Given the description of an element on the screen output the (x, y) to click on. 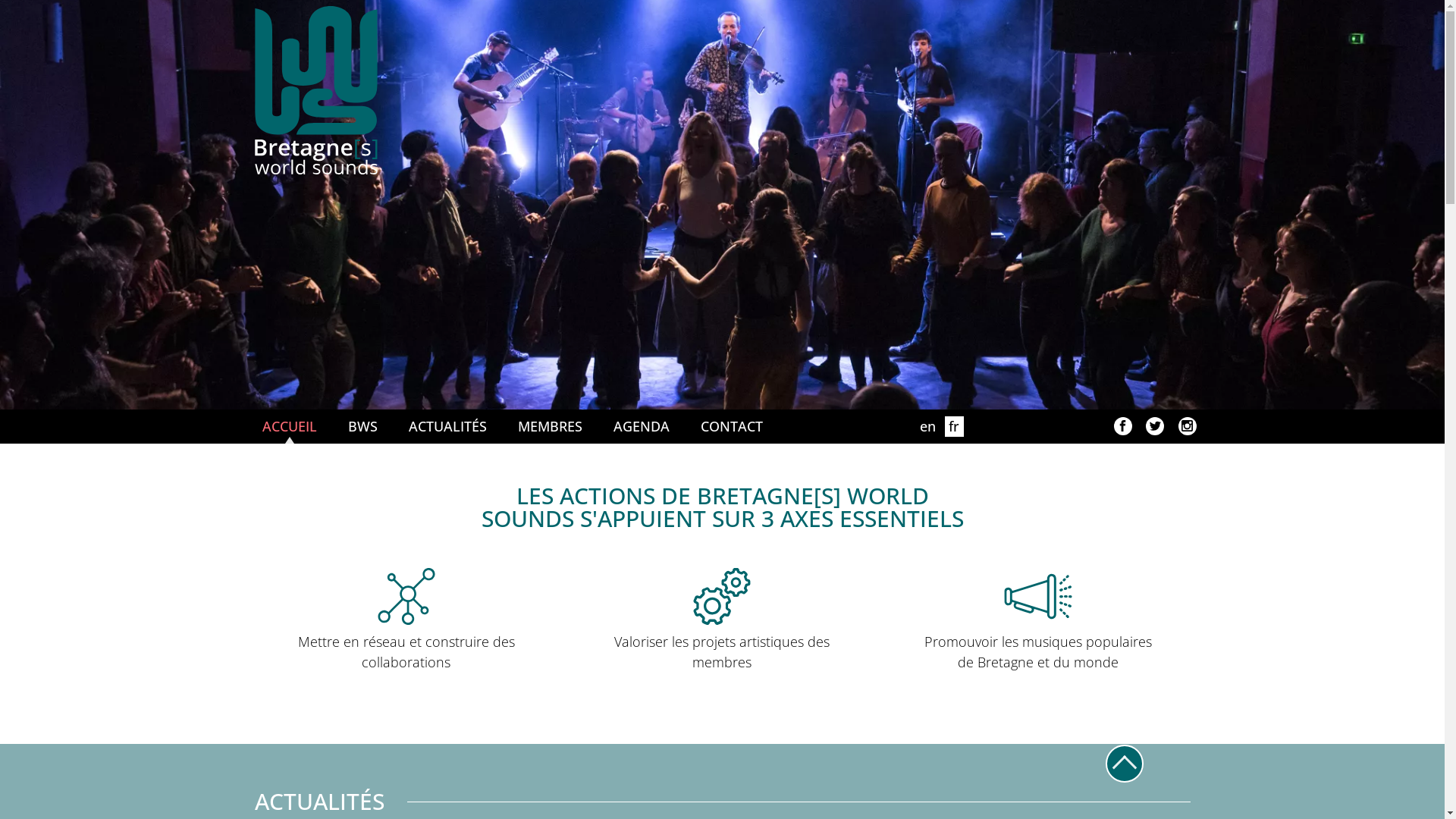
MEMBRES Element type: text (549, 426)
AGENDA Element type: text (640, 426)
Facebook Element type: text (1122, 426)
Twitter Element type: text (1187, 426)
CONTACT Element type: text (731, 426)
Twitter Element type: text (1154, 426)
Retour haut de page Element type: text (1124, 763)
BWS Element type: text (361, 426)
en Element type: text (928, 426)
BWS Element type: text (418, 90)
ACCUEIL Element type: text (289, 426)
